Given the description of an element on the screen output the (x, y) to click on. 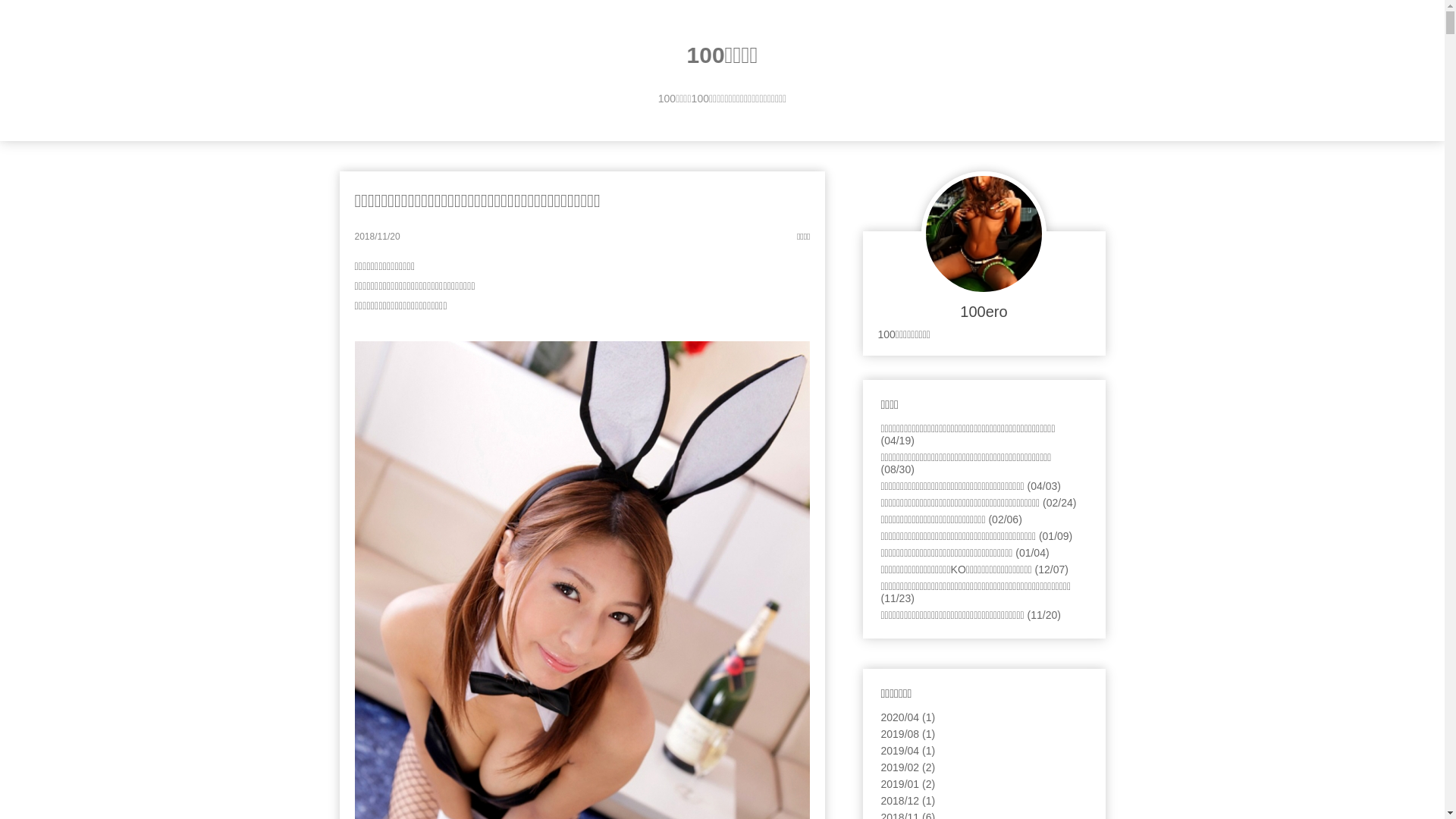
2019/01 (2) Element type: text (908, 783)
2019/02 (2) Element type: text (908, 767)
2019/04 (1) Element type: text (908, 750)
2019/08 (1) Element type: text (908, 733)
2020/04 (1) Element type: text (908, 717)
2018/12 (1) Element type: text (908, 800)
